Given the description of an element on the screen output the (x, y) to click on. 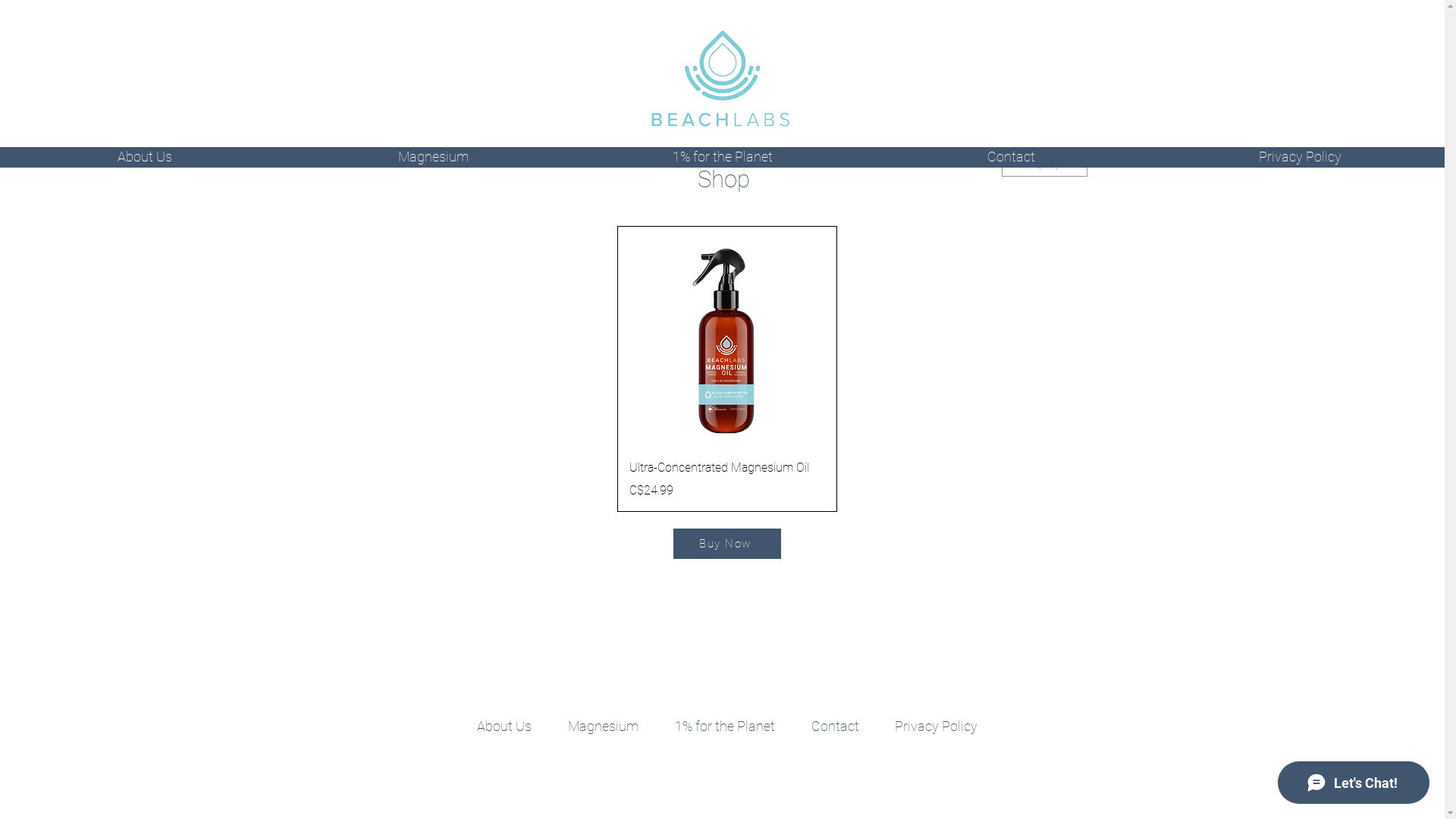
Magnesium Element type: text (602, 726)
Buy Now Element type: text (727, 543)
Privacy Policy Element type: text (935, 726)
CAD (C$) Element type: text (1043, 162)
1% for the Planet Element type: text (724, 726)
Magnesium Element type: text (432, 149)
Comments Element type: hover (636, 648)
Privacy Policy Element type: text (1299, 149)
Ultra-Concentrated Magnesium Oil
Price
C$24.99 Element type: text (727, 478)
Contact Element type: text (1010, 149)
1% for the Planet Element type: text (721, 149)
About Us Element type: text (144, 149)
Contact Element type: text (835, 726)
About Us Element type: text (503, 726)
